Given the description of an element on the screen output the (x, y) to click on. 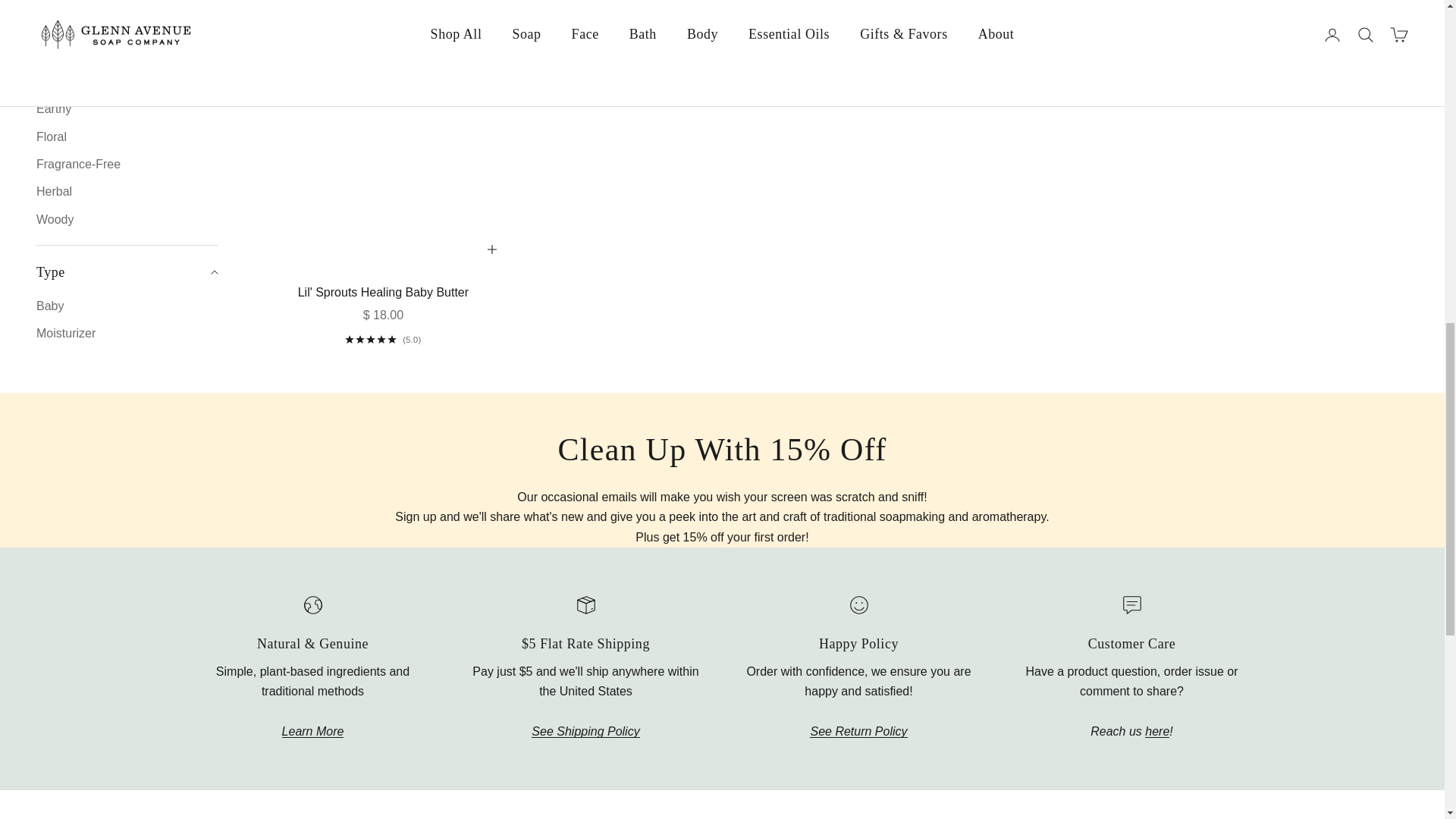
Refund Policy (858, 730)
Shipping Policy (585, 730)
3 reviews (382, 338)
About Us (312, 730)
Contact Us (1156, 730)
